Given the description of an element on the screen output the (x, y) to click on. 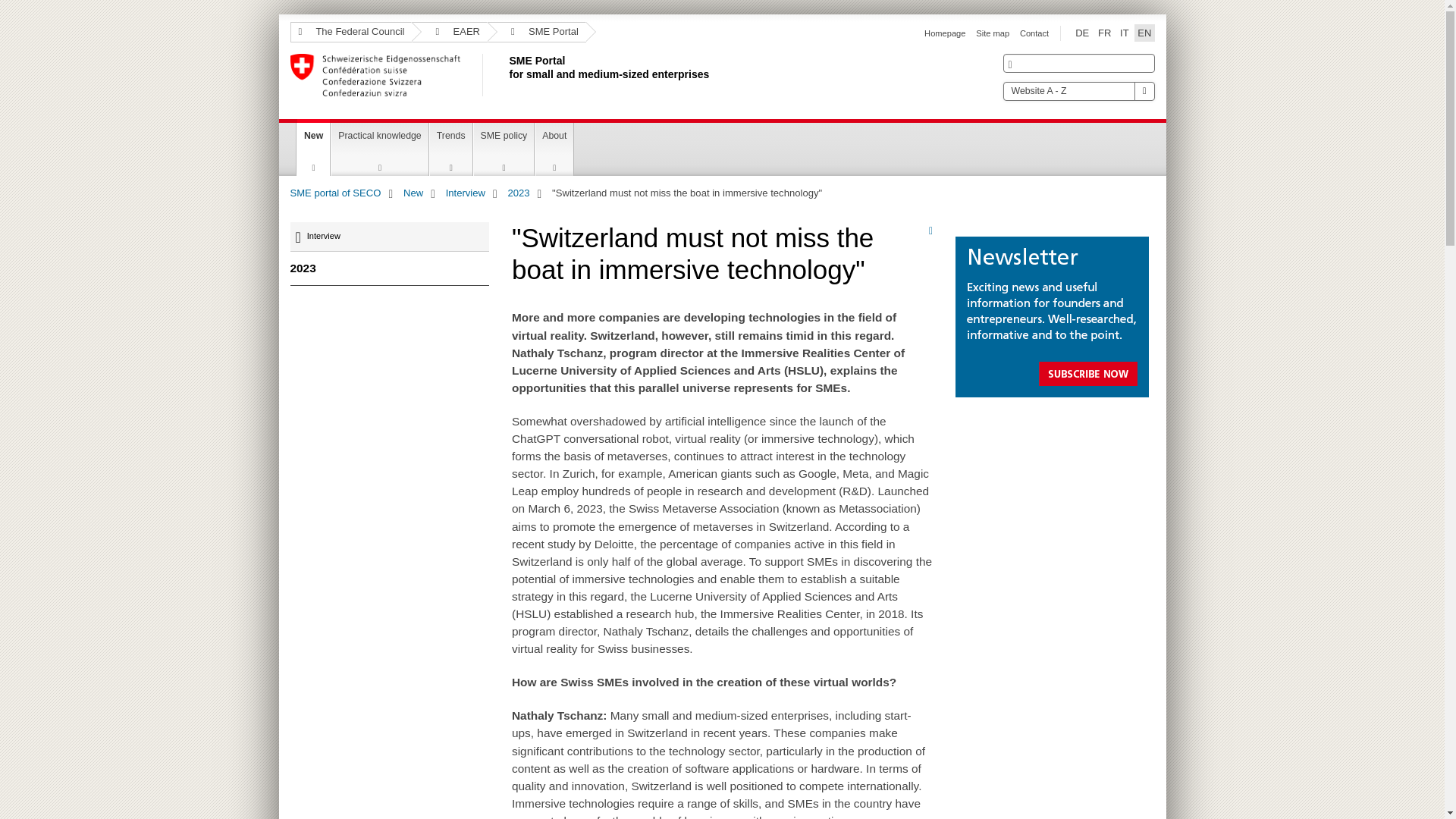
SME Portal (536, 32)
Contact (1034, 32)
Site map (992, 32)
French (1103, 32)
DE (1081, 32)
Website A - Z (1078, 90)
FR (1103, 32)
German (505, 75)
Homepage (1081, 32)
